Given the description of an element on the screen output the (x, y) to click on. 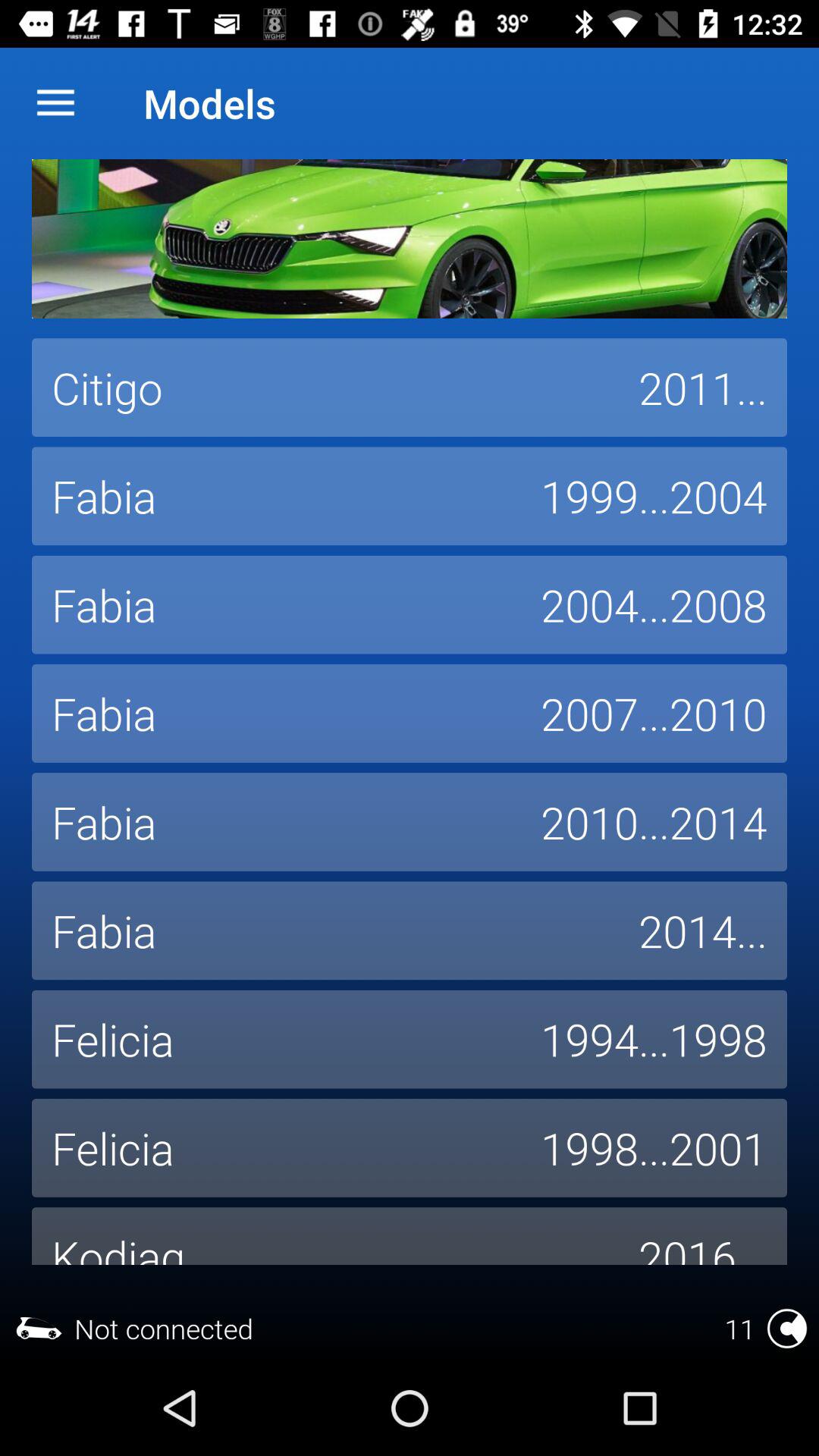
scroll to 2011... item (702, 387)
